Given the description of an element on the screen output the (x, y) to click on. 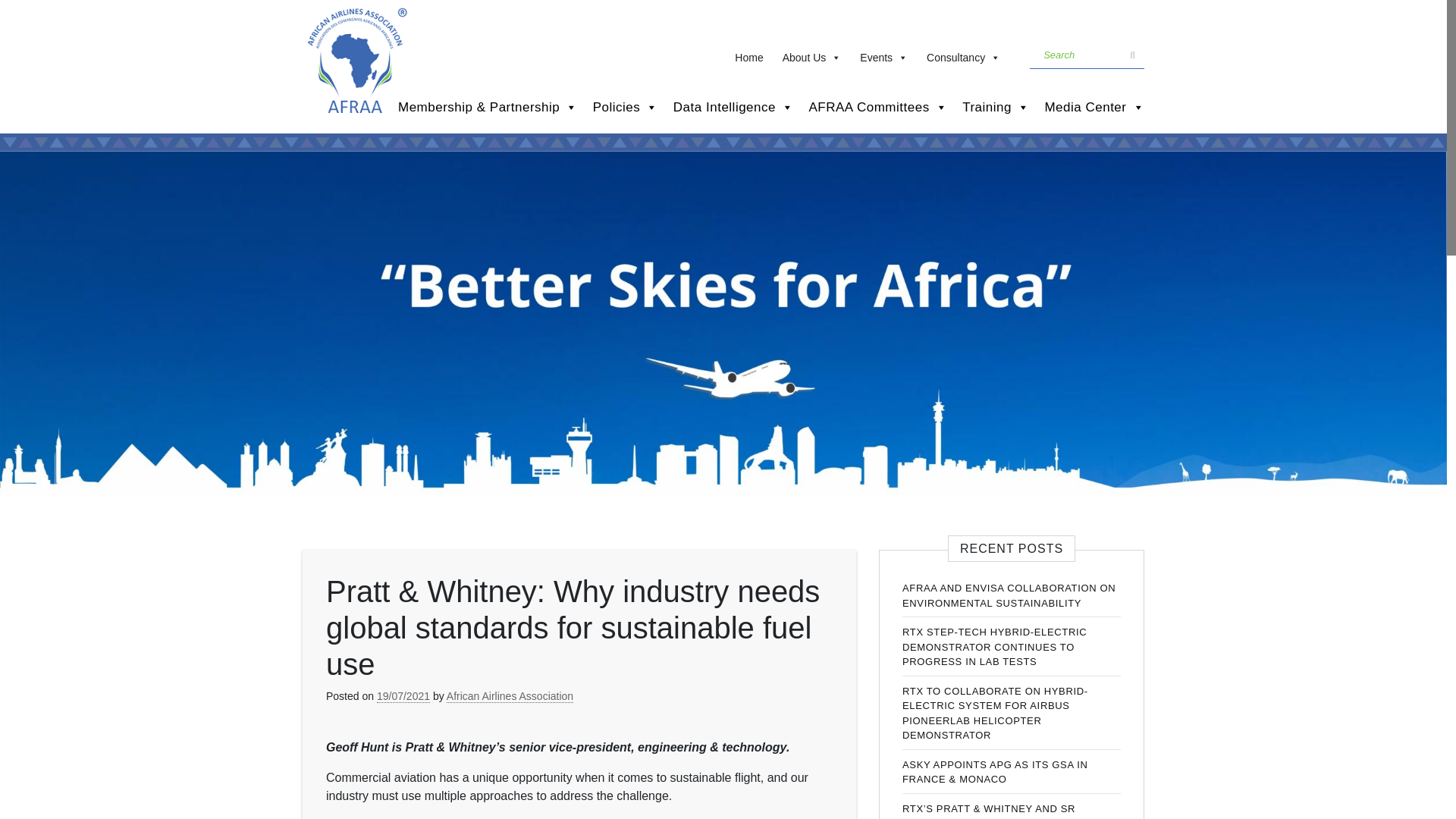
Consultancy (964, 53)
About Us (813, 53)
Events (884, 53)
Home (750, 53)
